Given the description of an element on the screen output the (x, y) to click on. 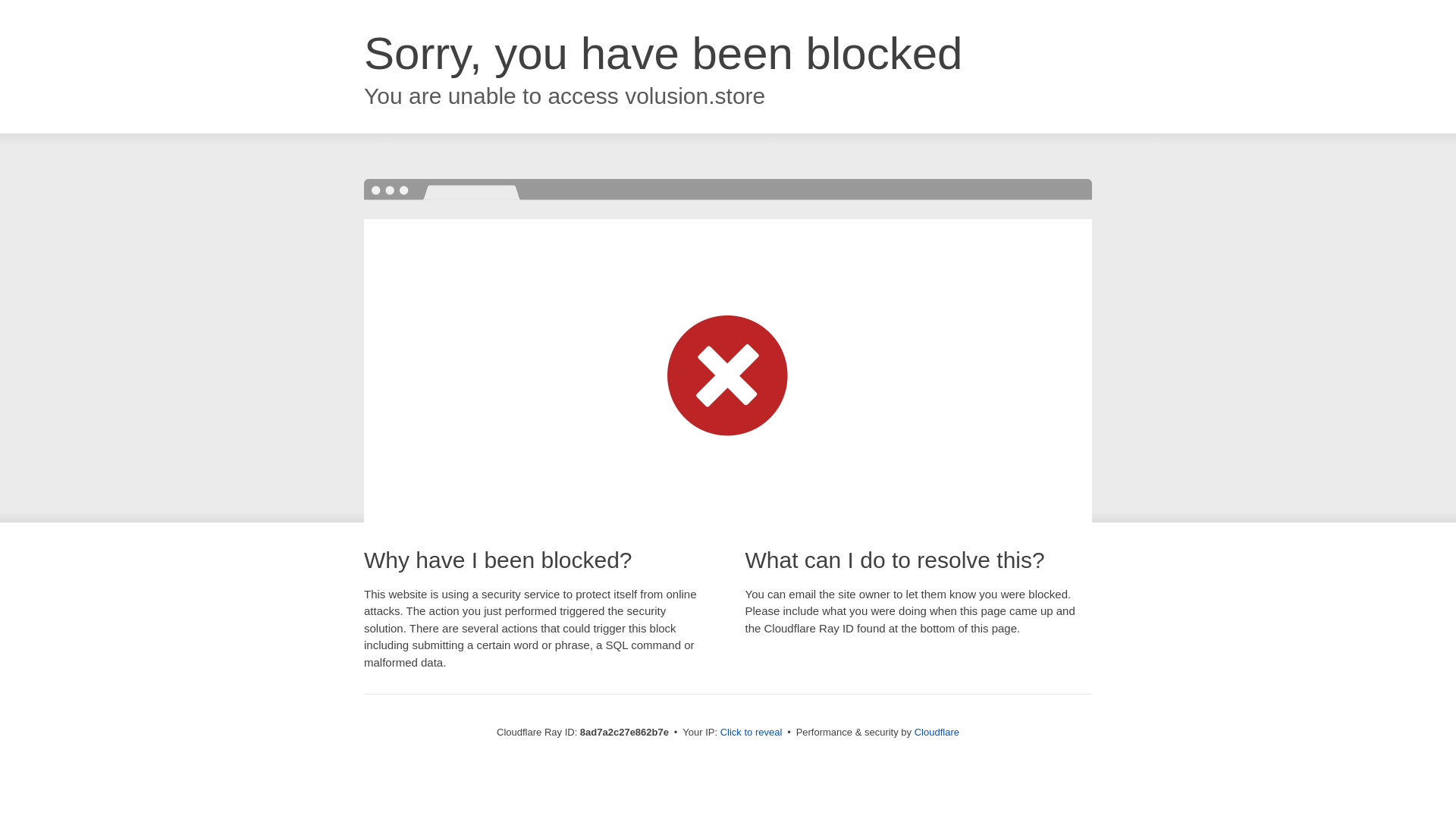
Cloudflare (936, 731)
Click to reveal (751, 732)
